Given the description of an element on the screen output the (x, y) to click on. 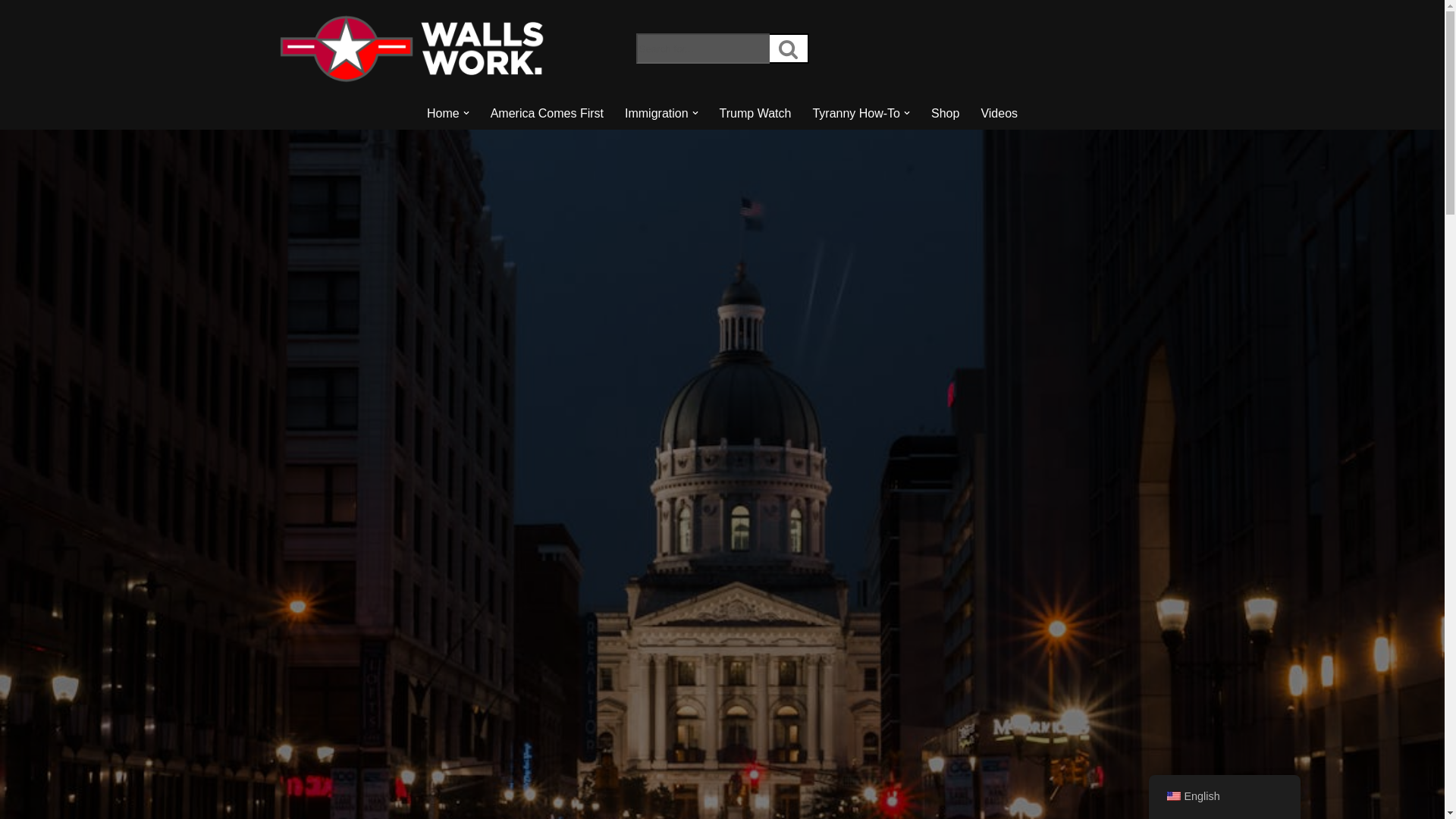
Videos (998, 113)
Shop (945, 113)
America Comes First (547, 113)
Trump Watch (755, 113)
Home (443, 113)
Tyranny How-To (855, 113)
Skip to content (11, 31)
Immigration (656, 113)
English (1172, 795)
